Given the description of an element on the screen output the (x, y) to click on. 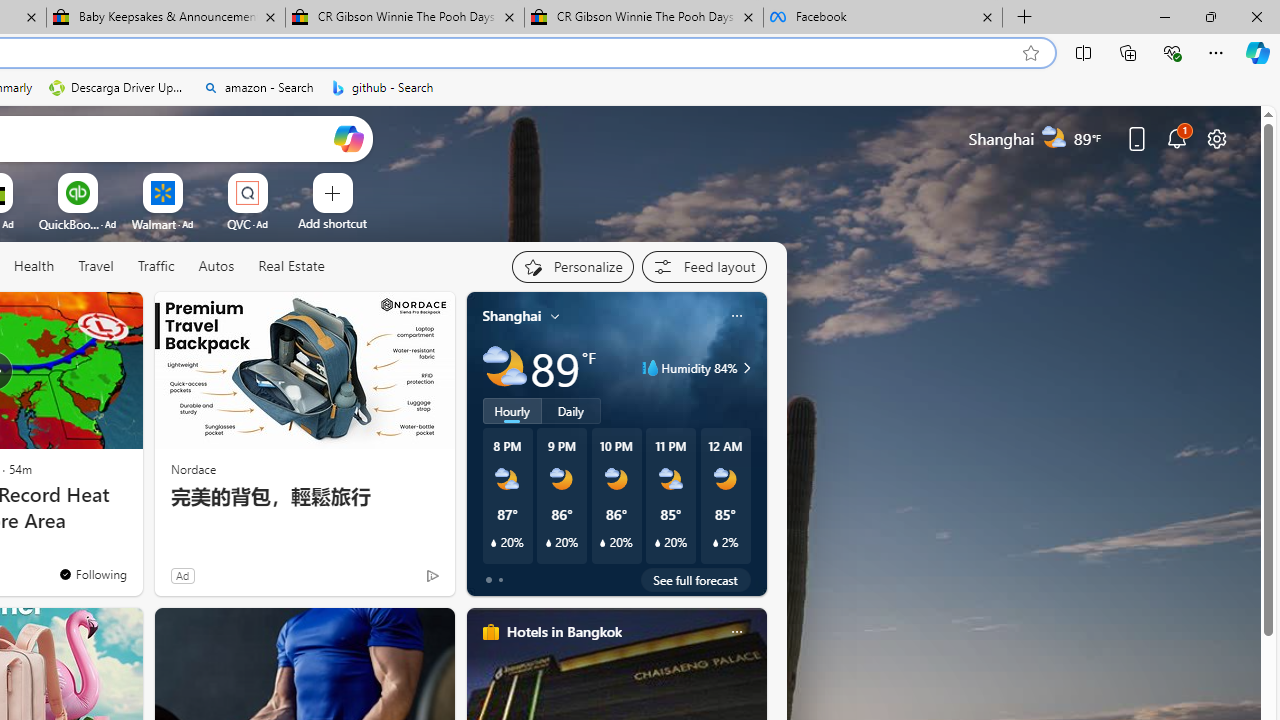
Hide this story (82, 315)
Add a site (332, 223)
My location (555, 315)
See full forecast (695, 579)
Class: weather-arrow-glyph (746, 367)
